Given the description of an element on the screen output the (x, y) to click on. 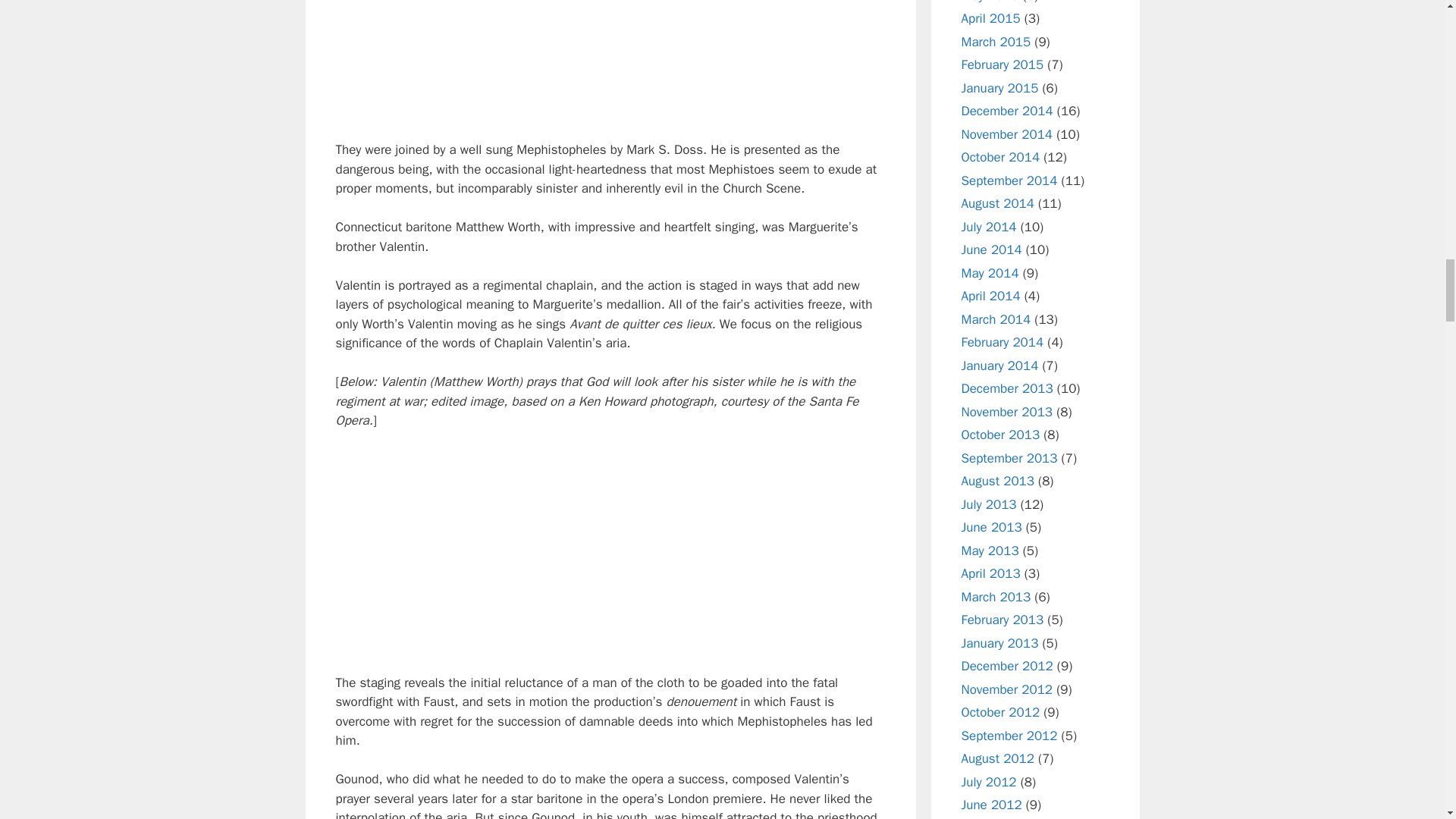
VALENTIN (609, 551)
OLD FAUST (609, 60)
